Given the description of an element on the screen output the (x, y) to click on. 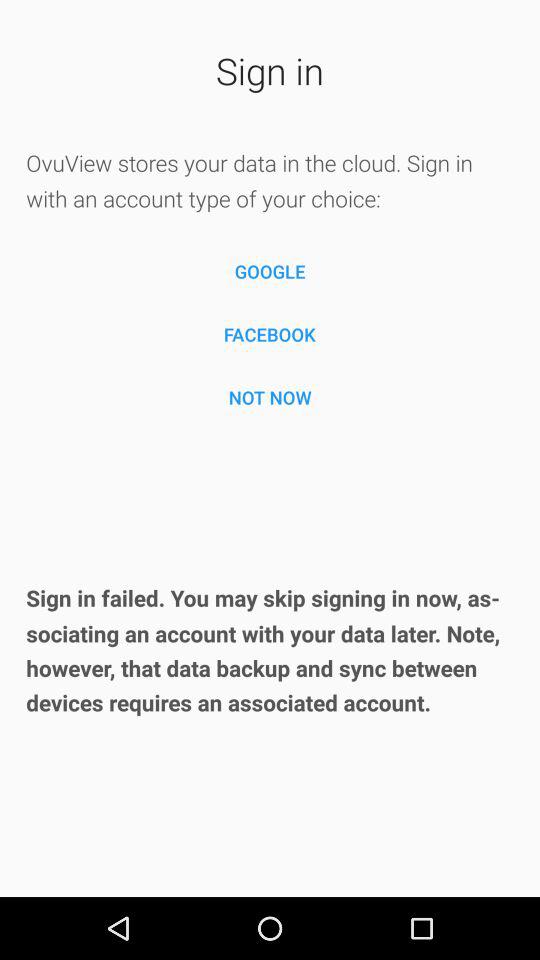
jump until not now (269, 397)
